Given the description of an element on the screen output the (x, y) to click on. 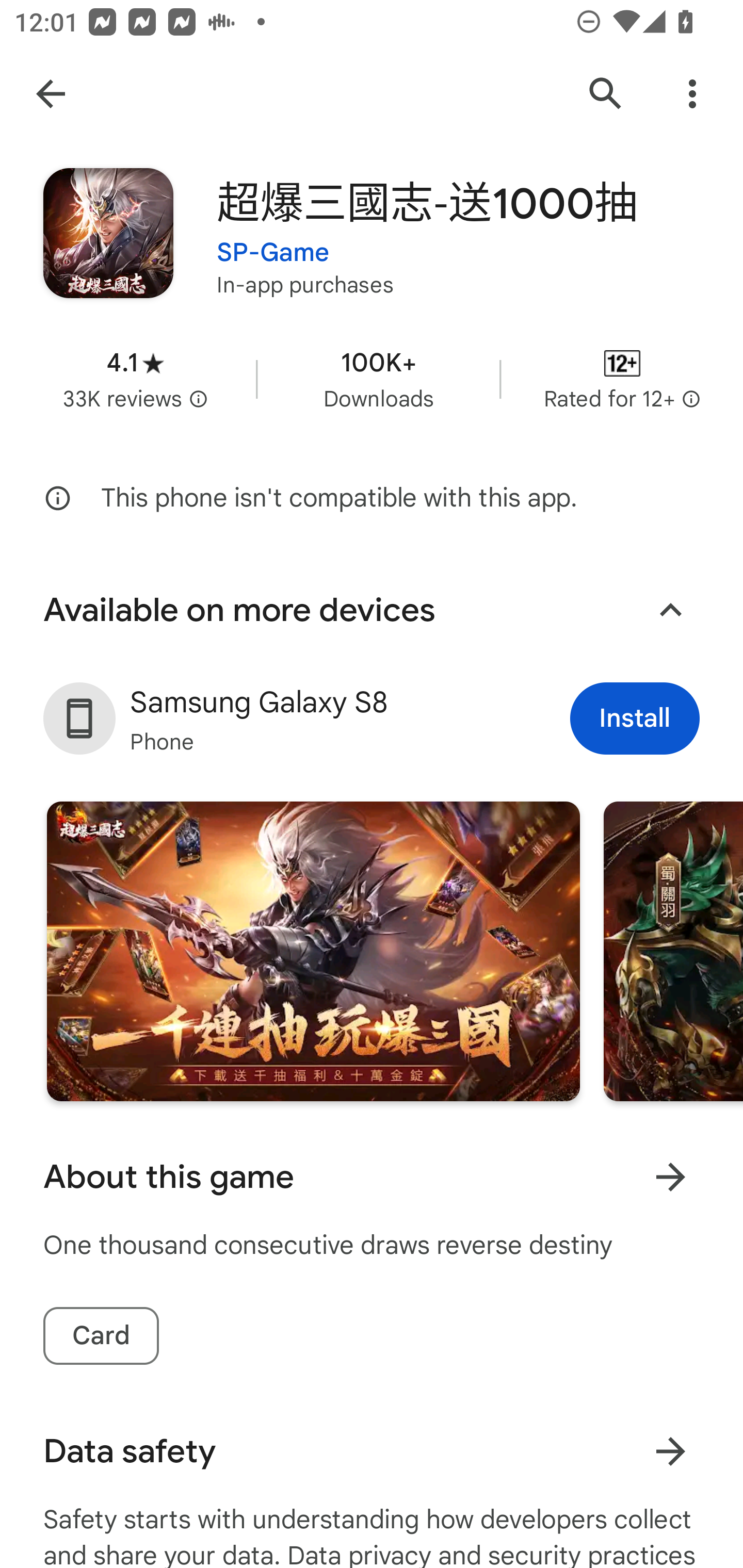
Navigate up (50, 93)
Search Google Play (605, 93)
More Options (692, 93)
SP-Game (272, 240)
Average rating 4.1 stars in 33 thousand reviews (135, 379)
Content rating Rated for 12+ (622, 379)
Available on more devices Collapse (371, 609)
Collapse (670, 610)
Install (634, 718)
Screenshot "1" of "7" (313, 950)
About this game Learn more About this game (371, 1176)
Learn more About this game (670, 1176)
Card tag (101, 1335)
Data safety Learn more about data safety (371, 1451)
Learn more about data safety (670, 1451)
